Given the description of an element on the screen output the (x, y) to click on. 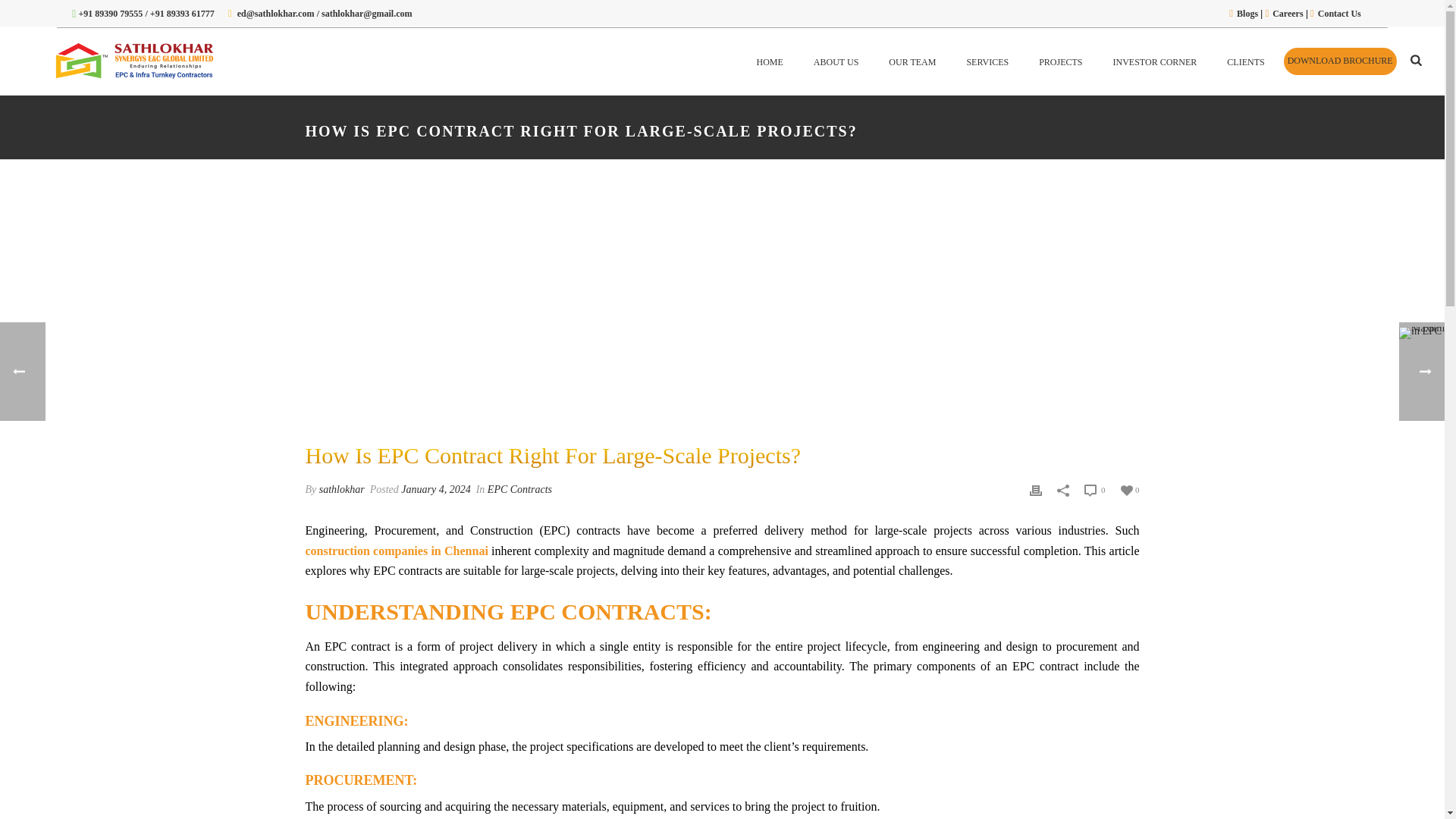
SERVICES (986, 61)
ABOUT US (835, 61)
Careers (1287, 13)
HOME (769, 61)
PROJECTS (1060, 61)
Posts by sathlokhar (341, 489)
PROJECTS (1060, 61)
Blogs (1246, 13)
Contact Us (1339, 13)
DOWNLOAD BROCHURE (1340, 61)
OUR TEAM (911, 61)
INVESTOR CORNER (1154, 61)
HOME (769, 61)
OUR TEAM (911, 61)
